Given the description of an element on the screen output the (x, y) to click on. 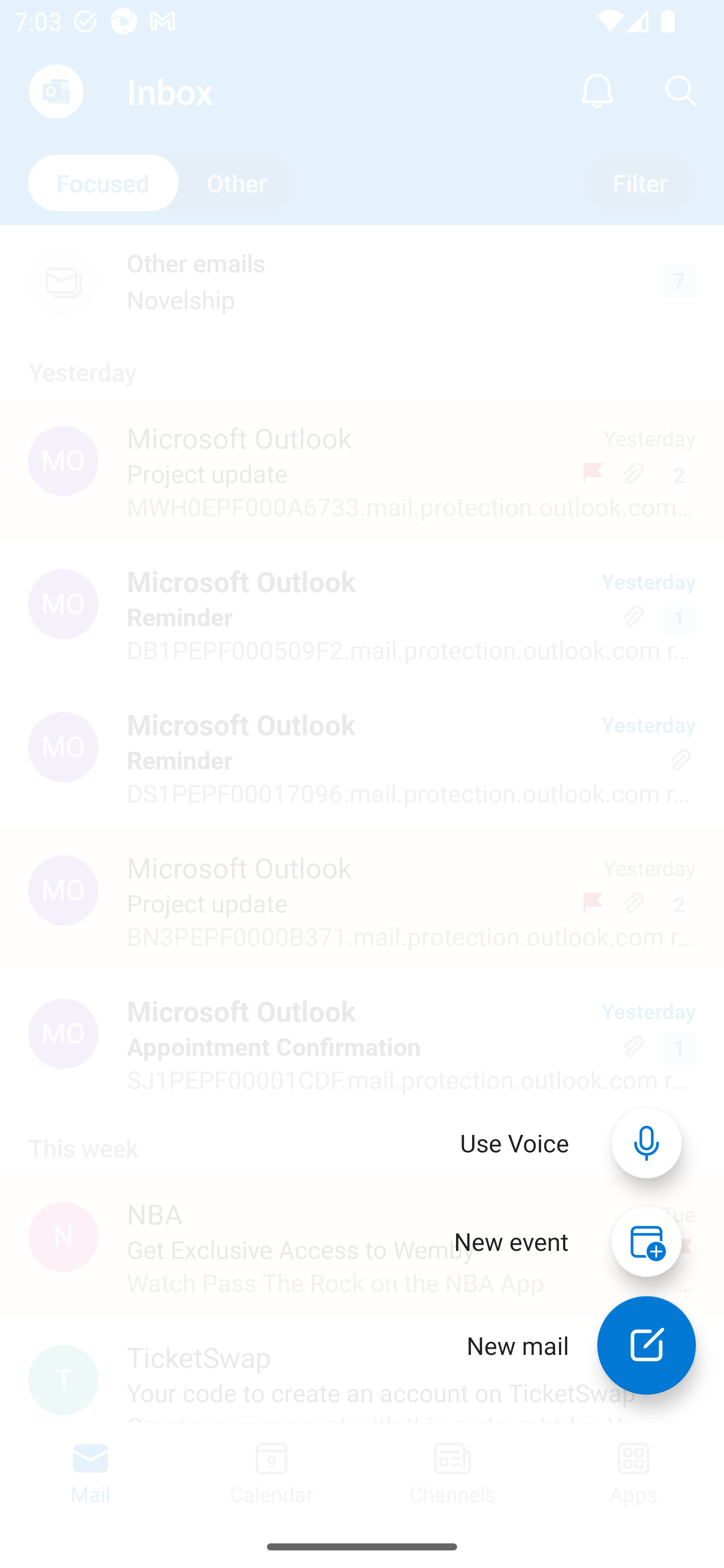
Use Voice (514, 1142)
New event (511, 1241)
New mail New mail New mail (566, 1344)
New mail (646, 1344)
